Given the description of an element on the screen output the (x, y) to click on. 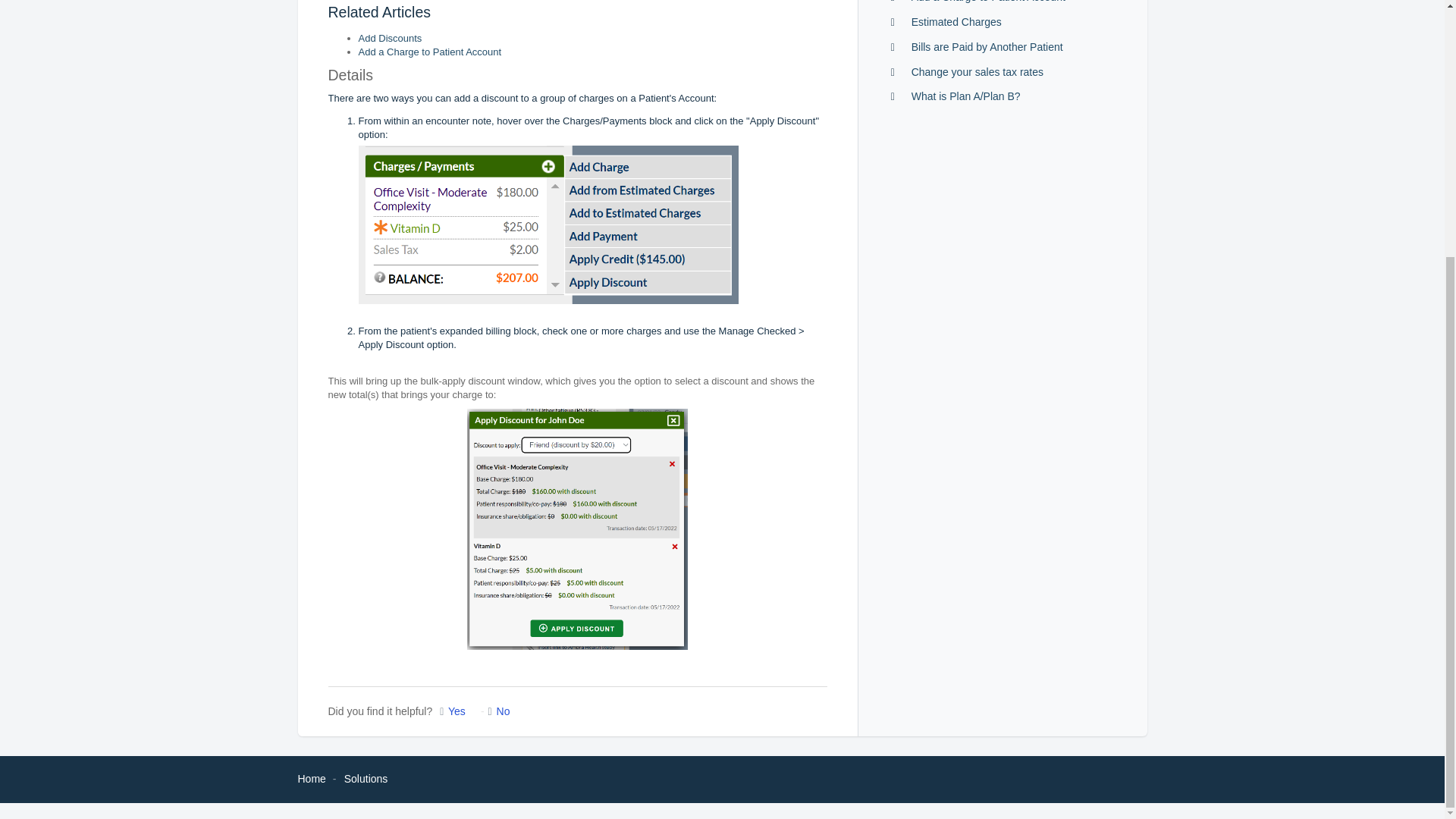
Add Discounts (390, 38)
Estimated Charges (956, 21)
Add a Charge to Patient Account (429, 51)
Change your sales tax rates (977, 71)
Bills are Paid by Another Patient (986, 46)
Add a Charge to Patient Account (988, 1)
Home (310, 778)
Solutions (365, 778)
